Given the description of an element on the screen output the (x, y) to click on. 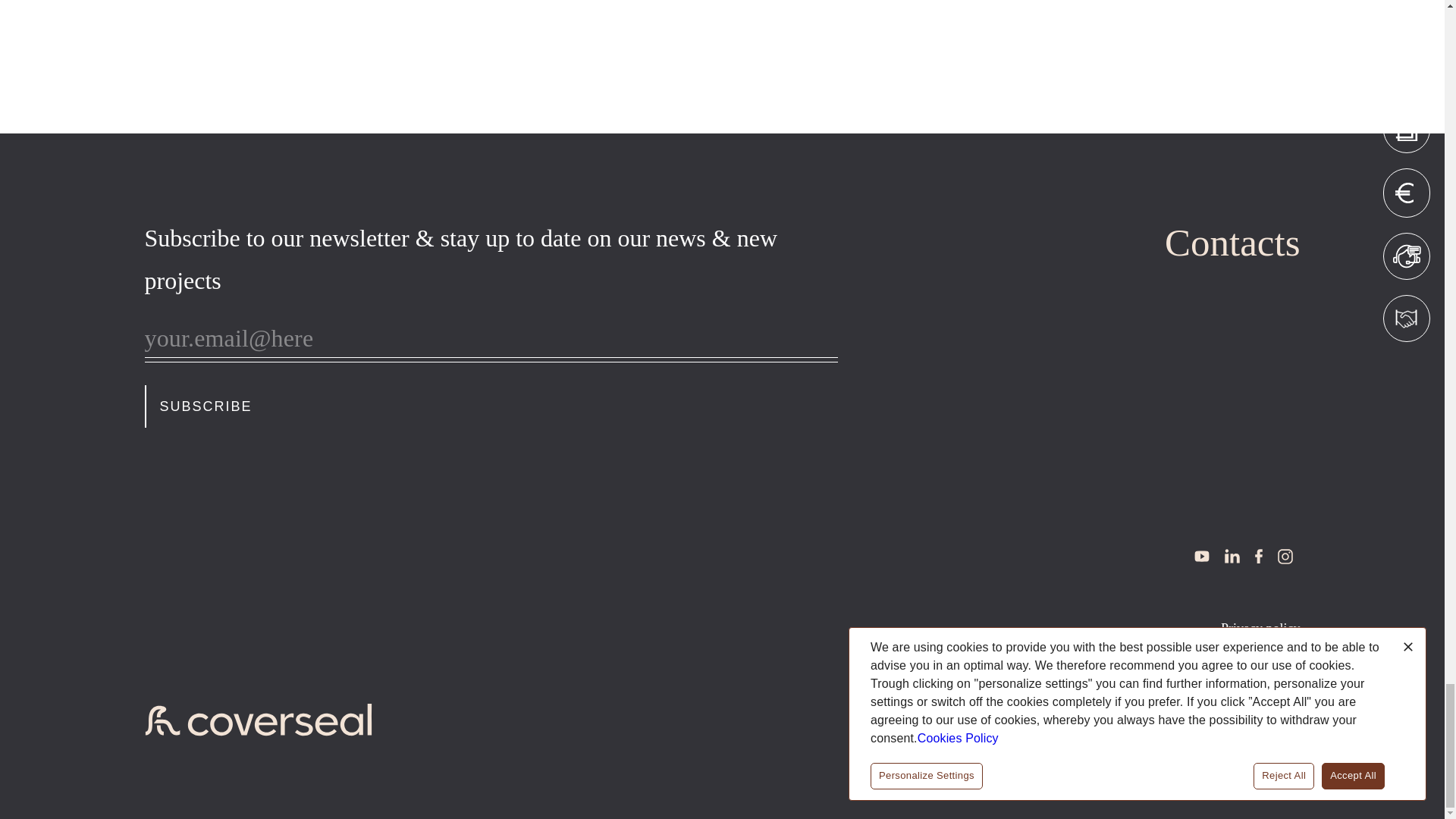
SUBSCRIBE (205, 405)
Contacts (1232, 242)
Cookies Policy (1258, 691)
Privacy policy (1260, 628)
Manage cookies consent (1233, 722)
